Given the description of an element on the screen output the (x, y) to click on. 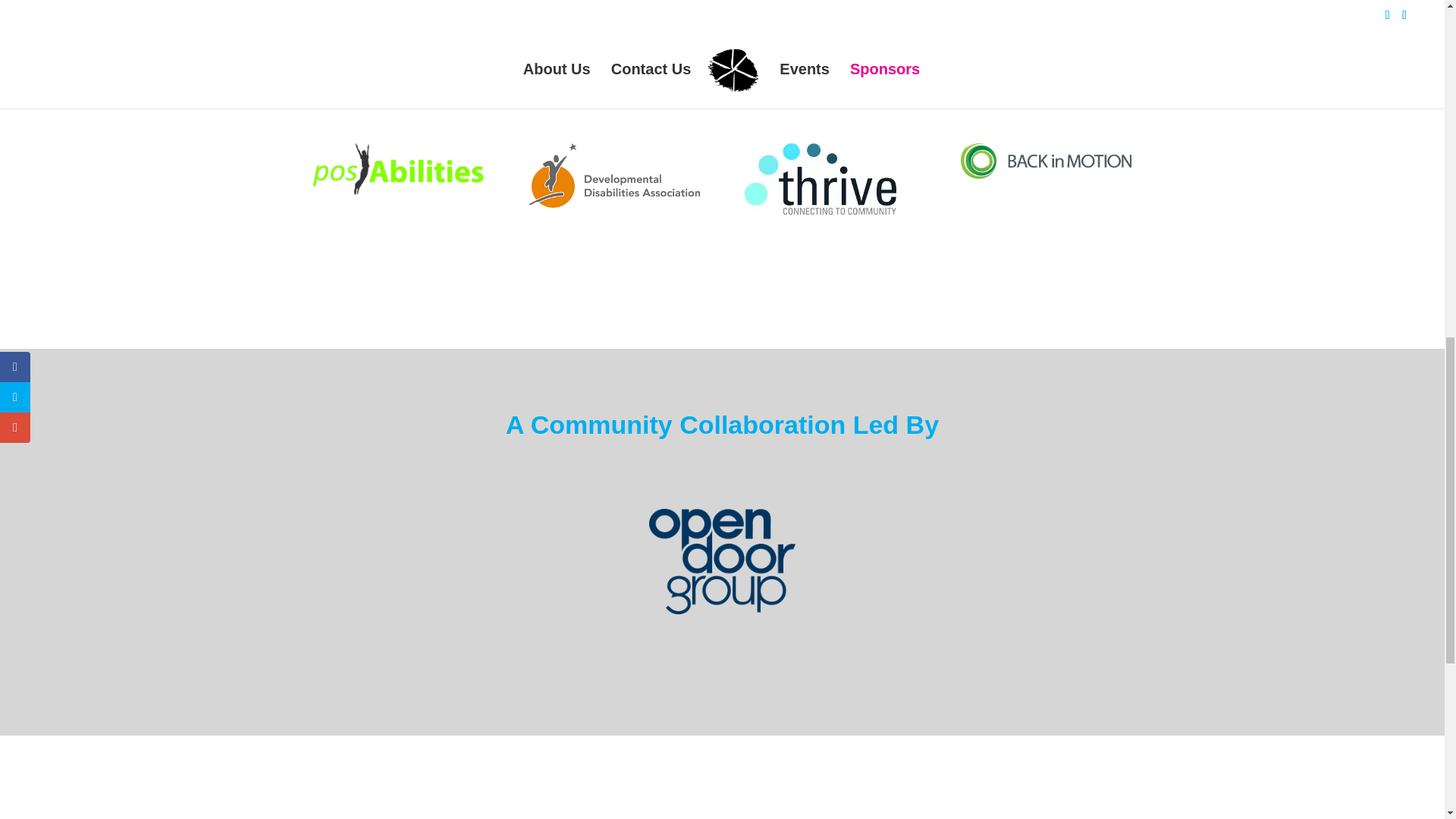
covlogo-share (894, 15)
Thrive Logo (820, 178)
vancity logo (548, 2)
Logo - Green - No Tagline (398, 169)
DDA logo (613, 175)
